Given the description of an element on the screen output the (x, y) to click on. 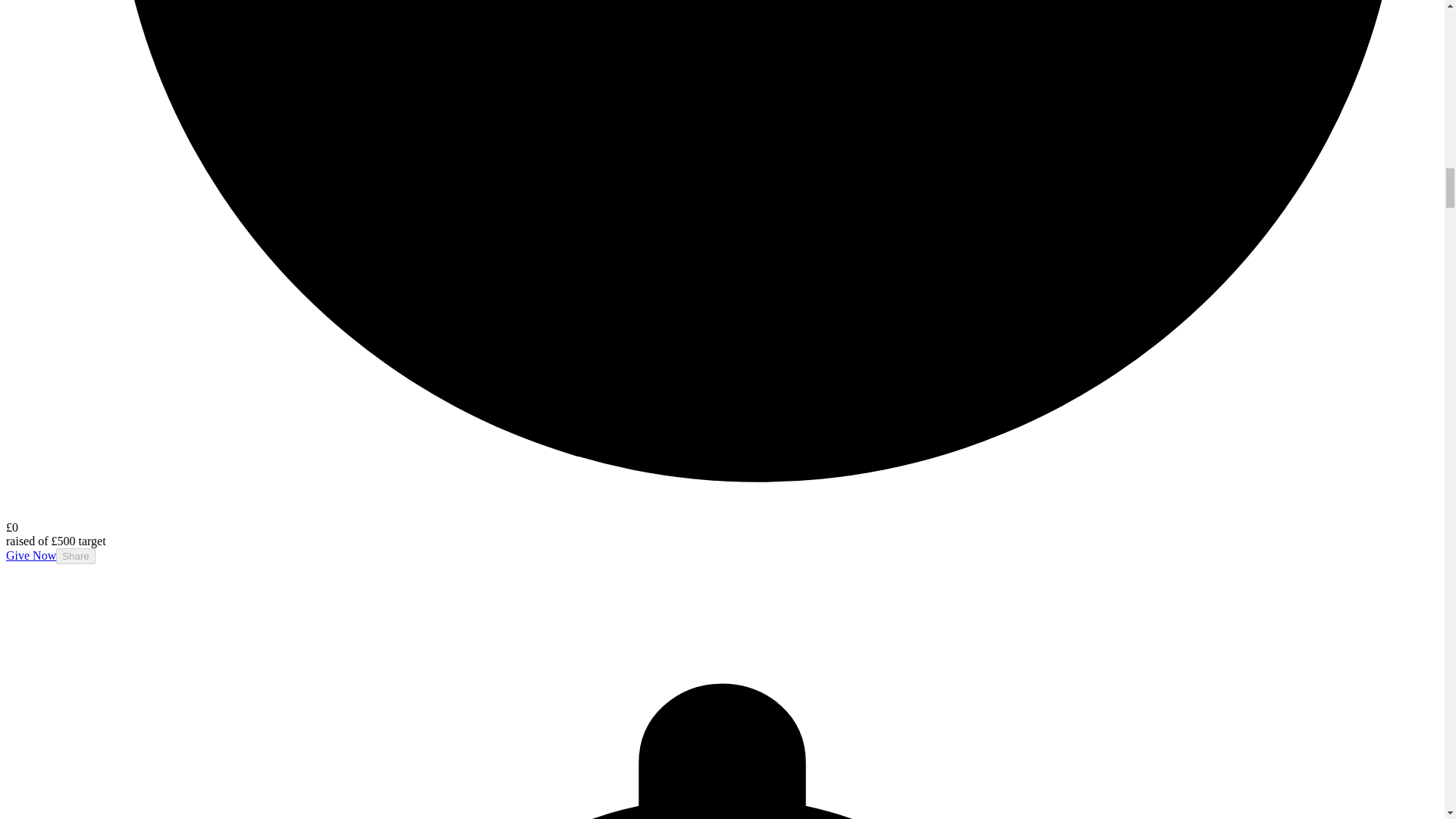
Give Now (30, 554)
Share (76, 555)
